Given the description of an element on the screen output the (x, y) to click on. 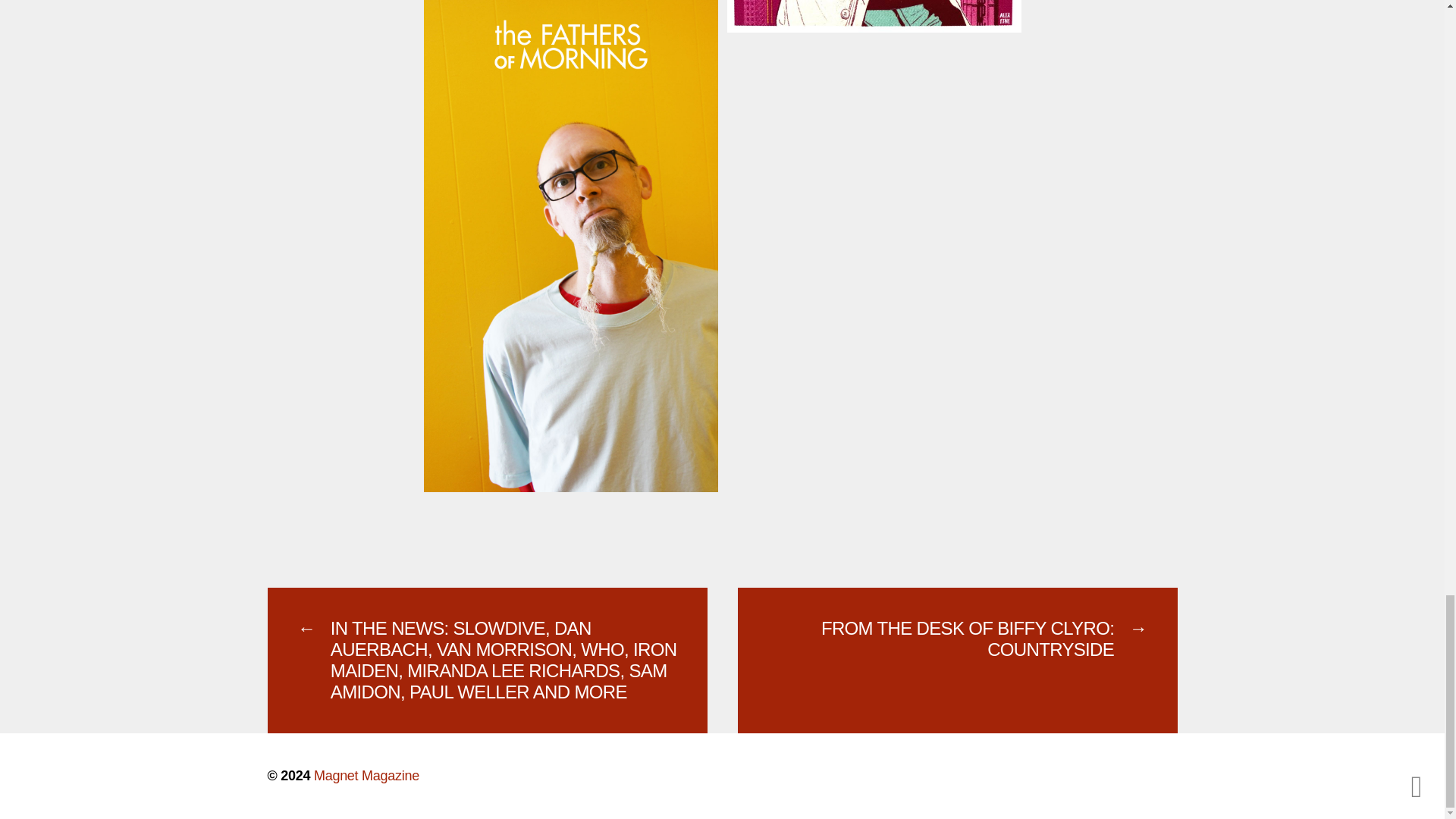
Magnet Magazine (366, 775)
